Given the description of an element on the screen output the (x, y) to click on. 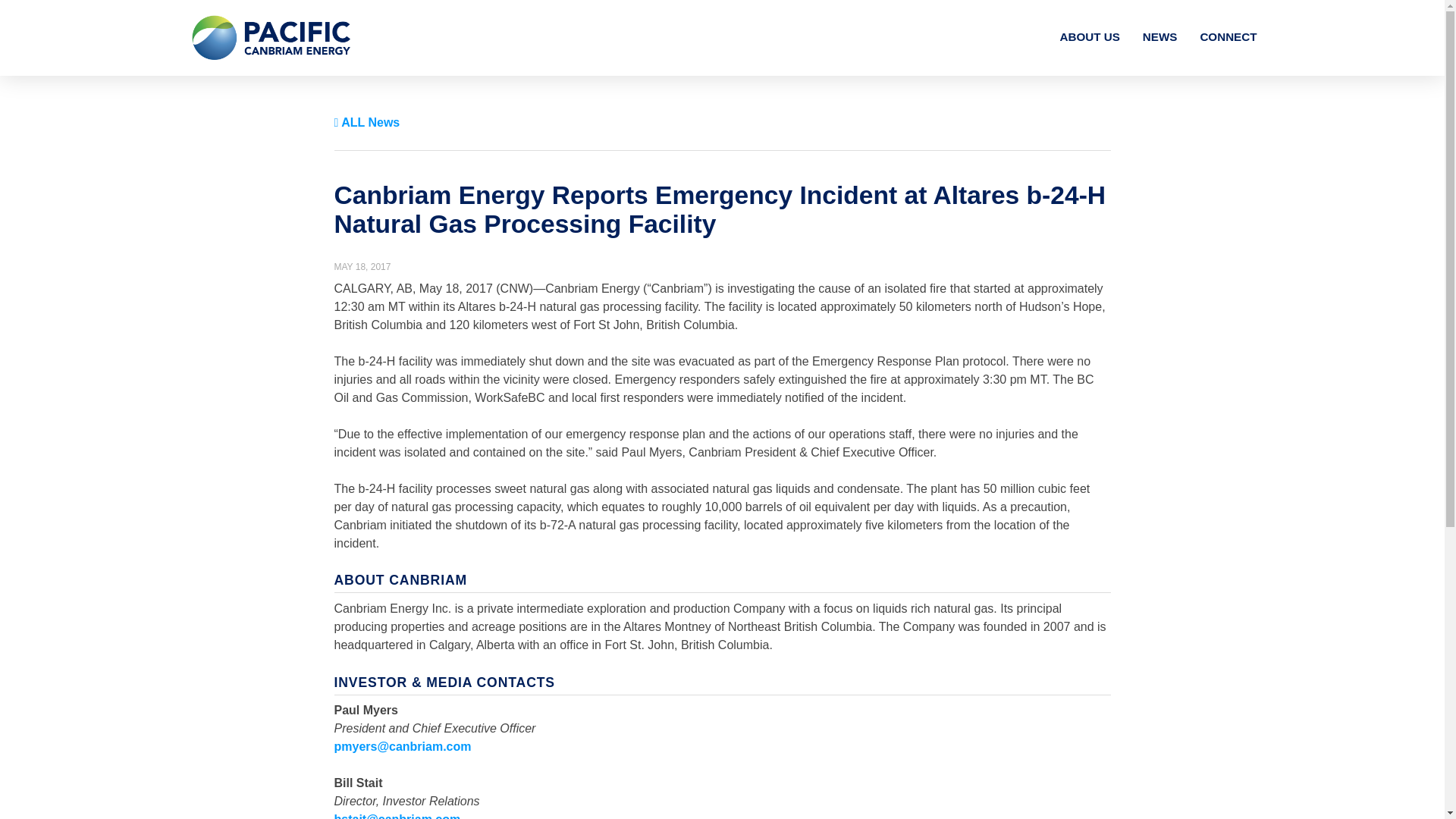
CONNECT (1228, 36)
ALL News (365, 122)
ABOUT US (1089, 36)
